Given the description of an element on the screen output the (x, y) to click on. 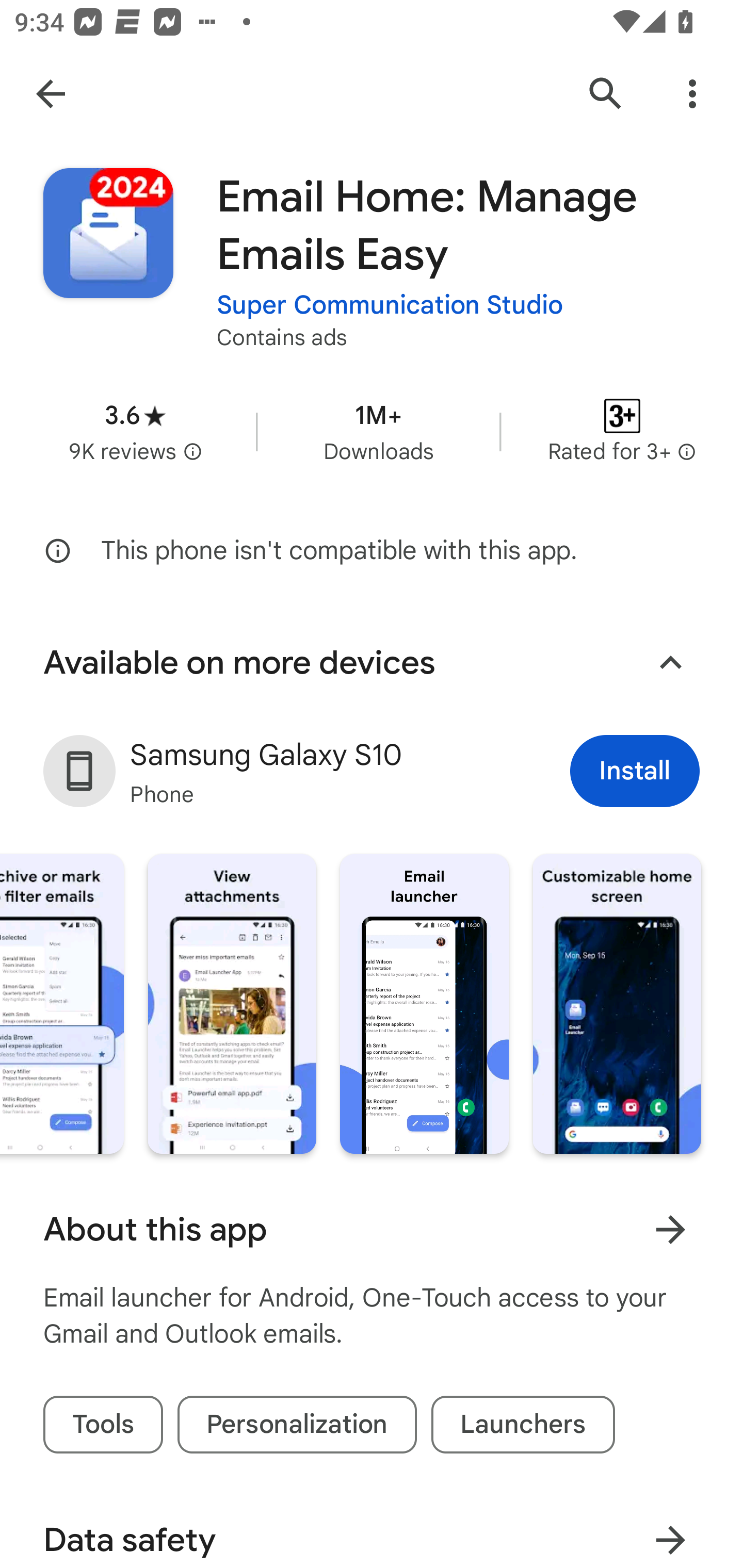
Navigate up (50, 93)
Search Google Play (605, 93)
More Options (692, 93)
Super Communication Studio (389, 304)
Average rating 3.6 stars in 9 thousand reviews (135, 431)
Content rating Rated for 3+ (622, 431)
Available on more devices Collapse (371, 662)
Collapse (670, 662)
Install (634, 770)
Screenshot "3" of "6" (62, 1004)
Screenshot "4" of "6" (231, 1004)
Screenshot "5" of "6" (424, 1004)
Screenshot "6" of "6" (616, 1004)
About this app Learn more About this app (371, 1229)
Learn more About this app (670, 1229)
Tools tag (102, 1424)
Personalization tag (296, 1424)
Launchers tag (523, 1424)
Data safety Learn more about data safety (371, 1528)
Learn more about data safety (670, 1532)
